Given the description of an element on the screen output the (x, y) to click on. 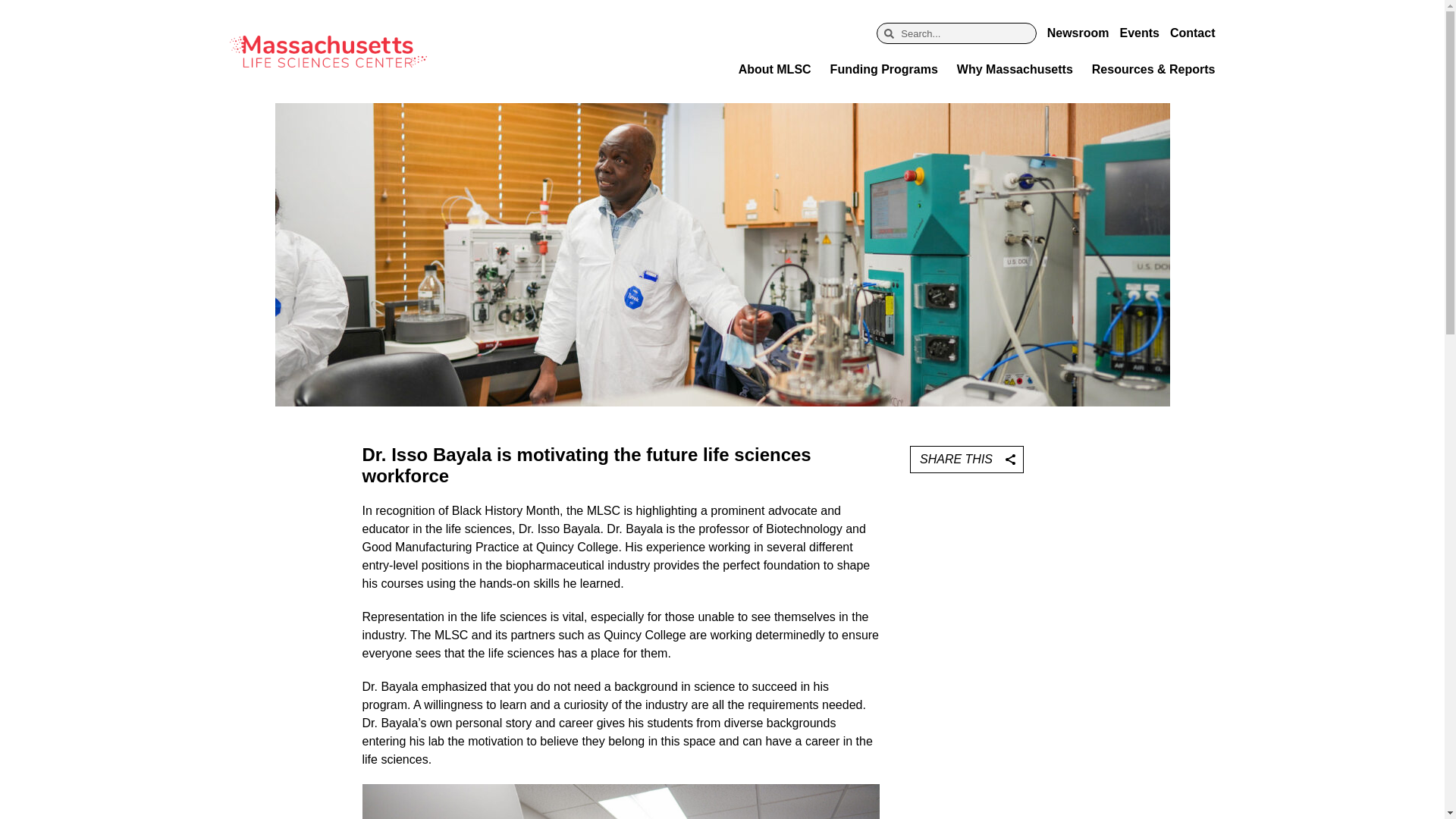
Newsroom (1077, 33)
Funding Programs (883, 69)
Why Massachusetts (1014, 69)
Events (1138, 33)
SHARE THIS (966, 459)
About MLSC (774, 69)
Contact (1192, 33)
